Given the description of an element on the screen output the (x, y) to click on. 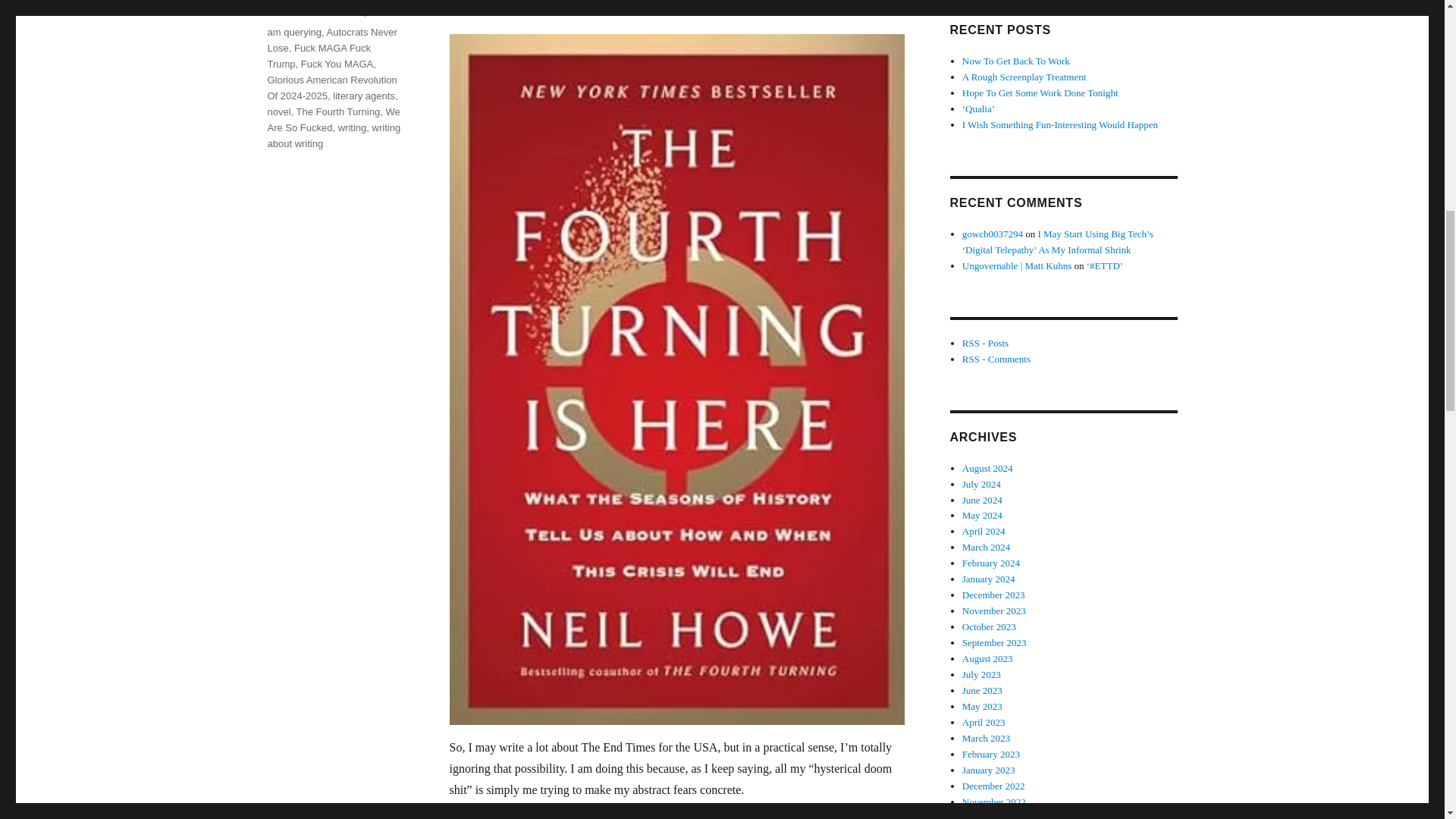
A Rough Screenplay Treatment (1024, 76)
Glorious American Revolution Of 2024-2025 (331, 87)
writing about writing (333, 135)
Autocrats Never Lose (331, 40)
writing (351, 127)
Hindsight 2020 (331, 0)
literary agents (363, 95)
We Are So Fucked (332, 119)
novel (277, 111)
